Given the description of an element on the screen output the (x, y) to click on. 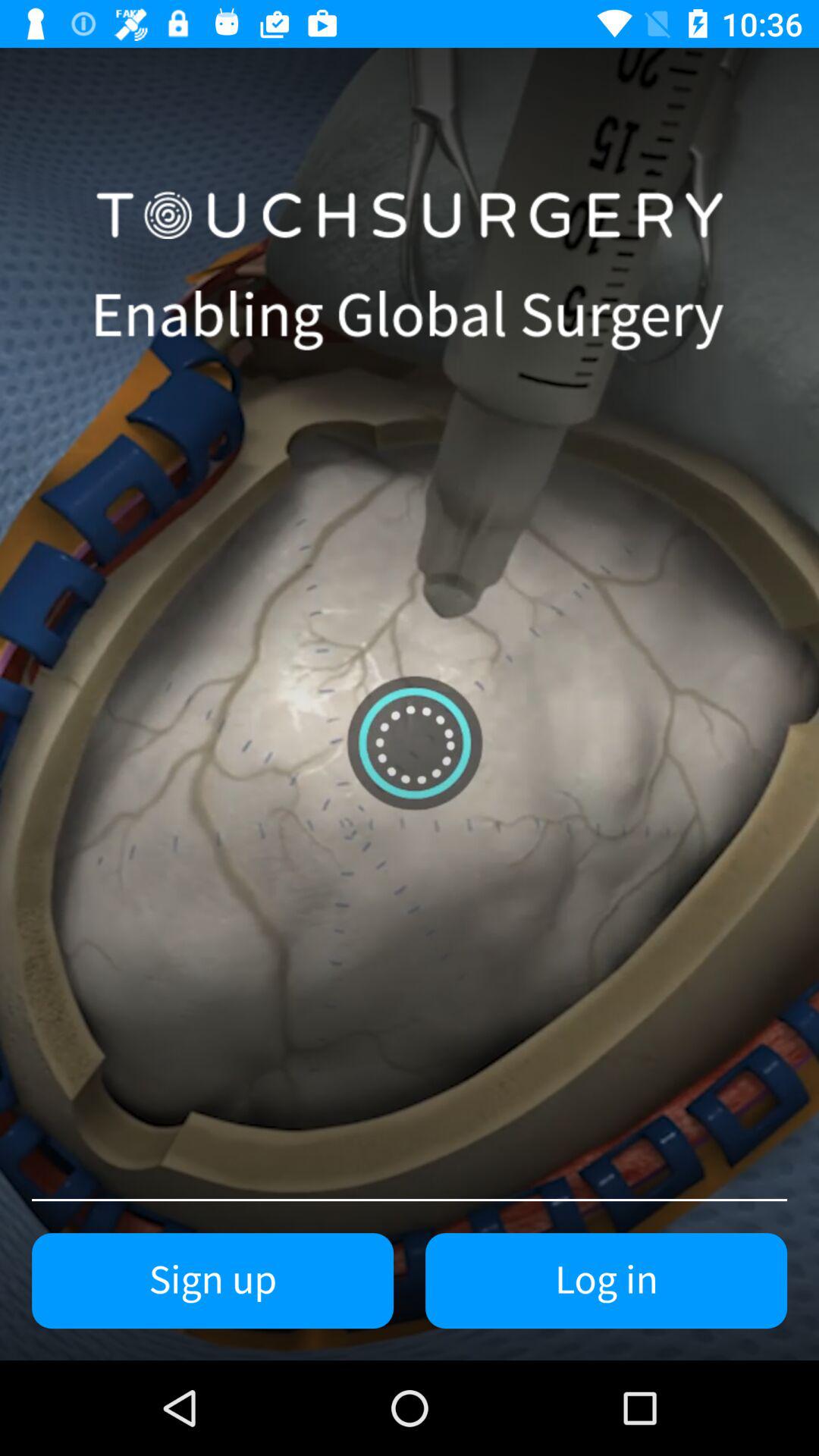
flip to log in (606, 1280)
